Given the description of an element on the screen output the (x, y) to click on. 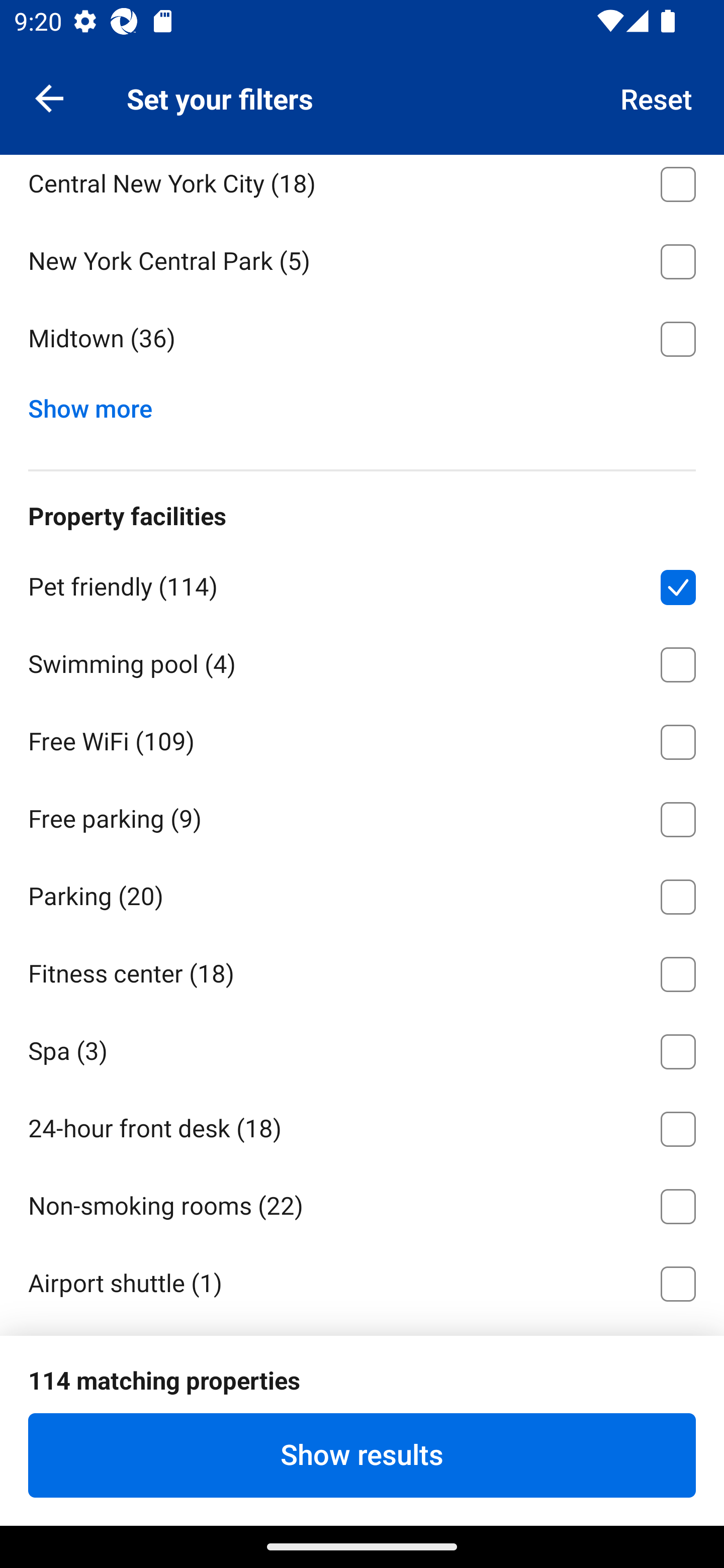
Navigate up (49, 97)
Reset (656, 97)
Manhattan ⁦(114) (361, 103)
Central New York City ⁦(18) (361, 187)
New York Central Park ⁦(5) (361, 257)
Midtown ⁦(36) (361, 338)
Show more (97, 403)
Pet friendly ⁦(114) (361, 583)
Swimming pool ⁦(4) (361, 660)
Free WiFi ⁦(109) (361, 738)
Free parking ⁦(9) (361, 815)
Parking ⁦(20) (361, 893)
Fitness center ⁦(18) (361, 970)
Spa ⁦(3) (361, 1047)
24-hour front desk ⁦(18) (361, 1125)
Non-smoking rooms ⁦(22) (361, 1203)
Airport shuttle ⁦(1) (361, 1279)
Show results (361, 1454)
